Given the description of an element on the screen output the (x, y) to click on. 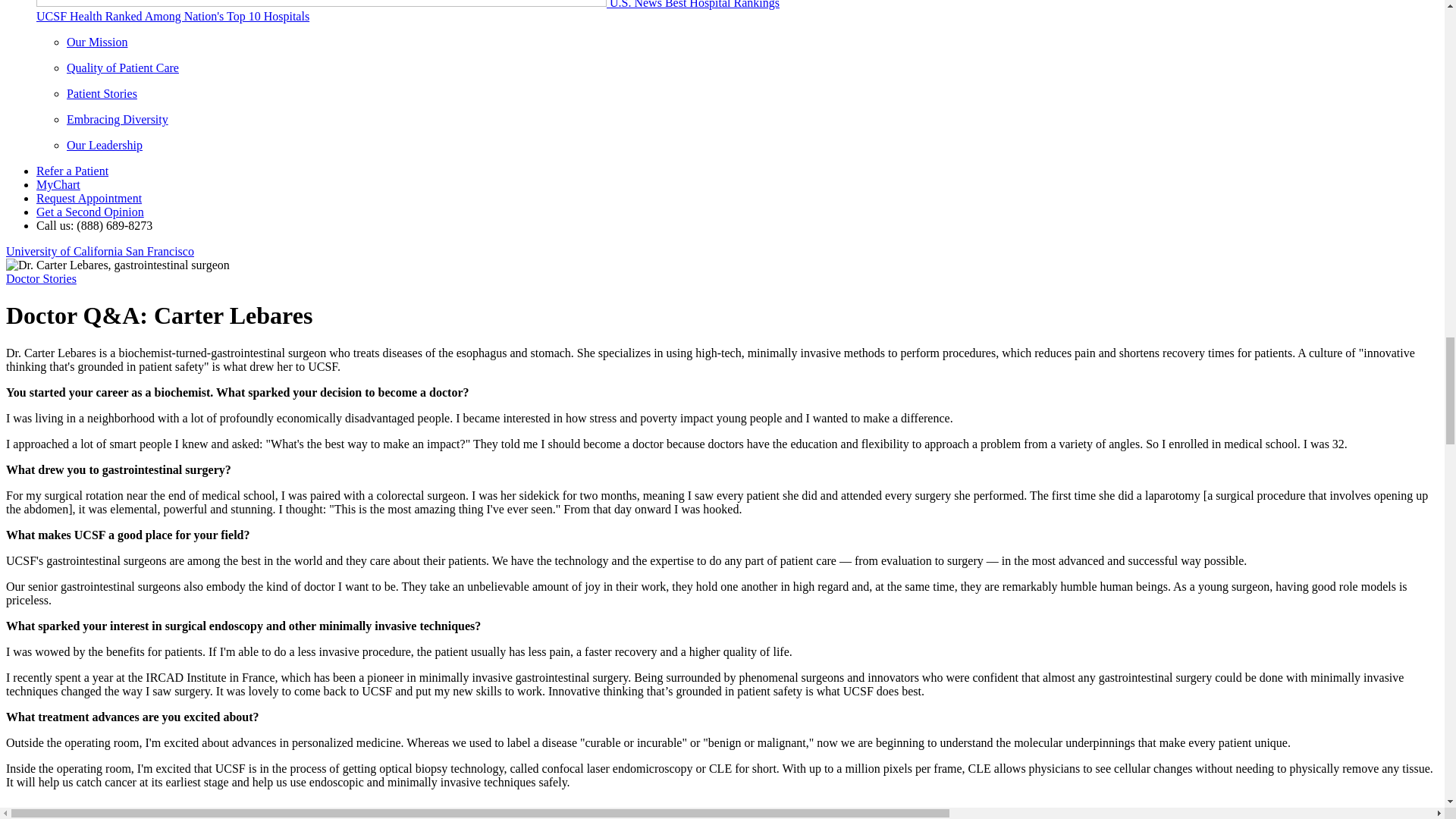
Quality of Patient Care (122, 67)
University of California San Francisco (99, 250)
